Given the description of an element on the screen output the (x, y) to click on. 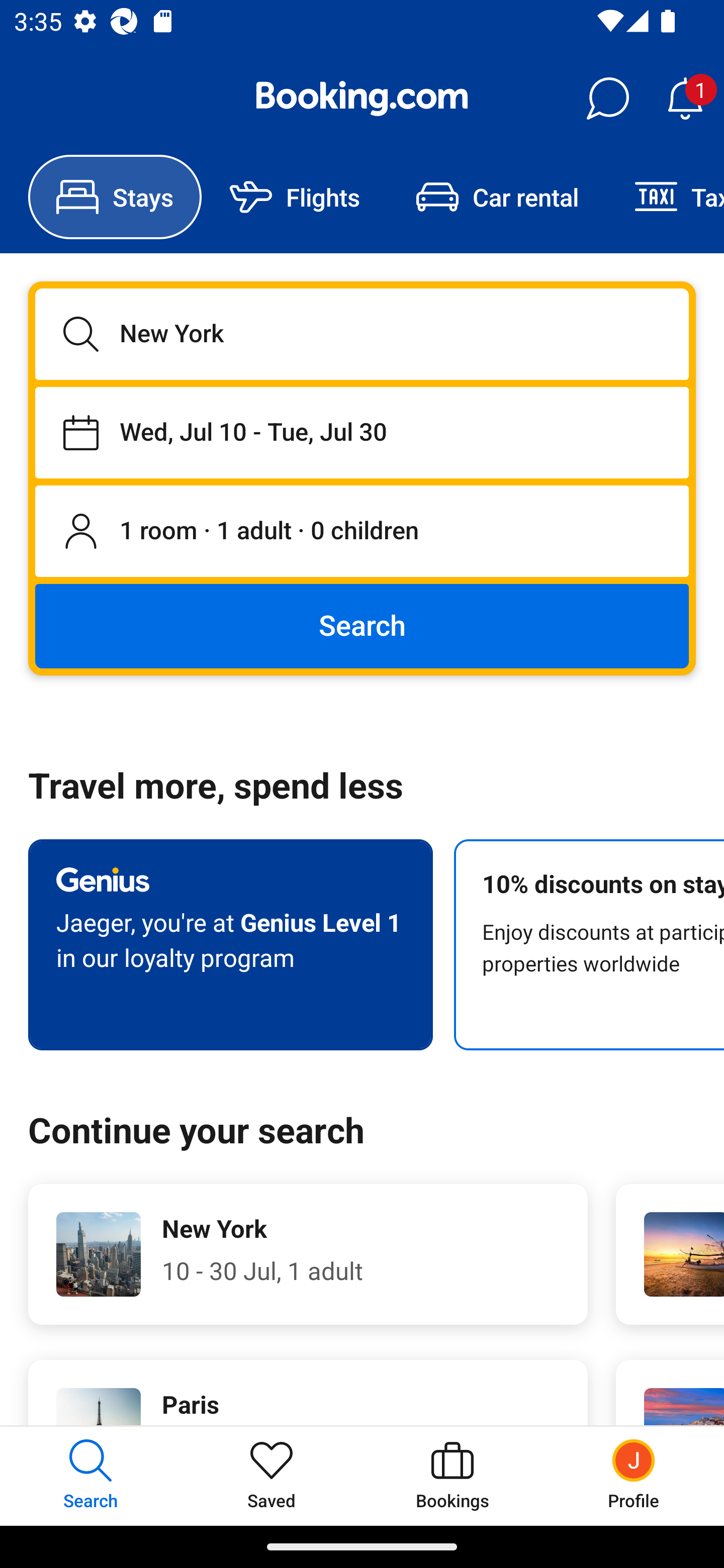
Messages (607, 98)
Notifications (685, 98)
Stays (114, 197)
Flights (294, 197)
Car rental (497, 197)
Taxi (665, 197)
New York (361, 333)
Staying from Wed, Jul 10 until Tue, Jul 30 (361, 432)
1 room, 1 adult, 0 children (361, 531)
Search (361, 625)
New York 10 - 30 Jul, 1 adult (307, 1253)
Saved (271, 1475)
Bookings (452, 1475)
Profile (633, 1475)
